Given the description of an element on the screen output the (x, y) to click on. 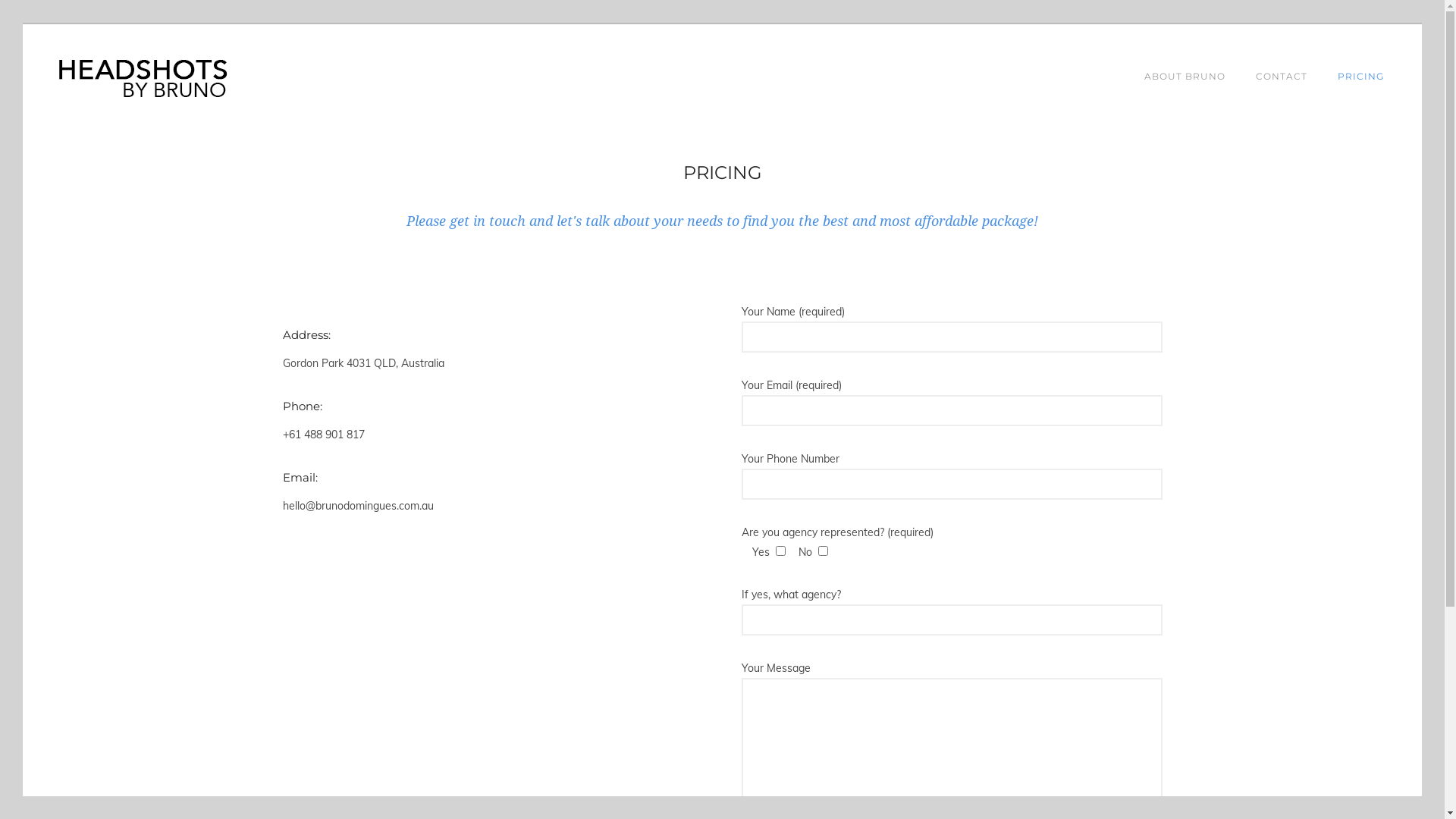
PRICING Element type: text (1360, 75)
CONTACT Element type: text (1281, 75)
ABOUT BRUNO Element type: text (1184, 75)
